Given the description of an element on the screen output the (x, y) to click on. 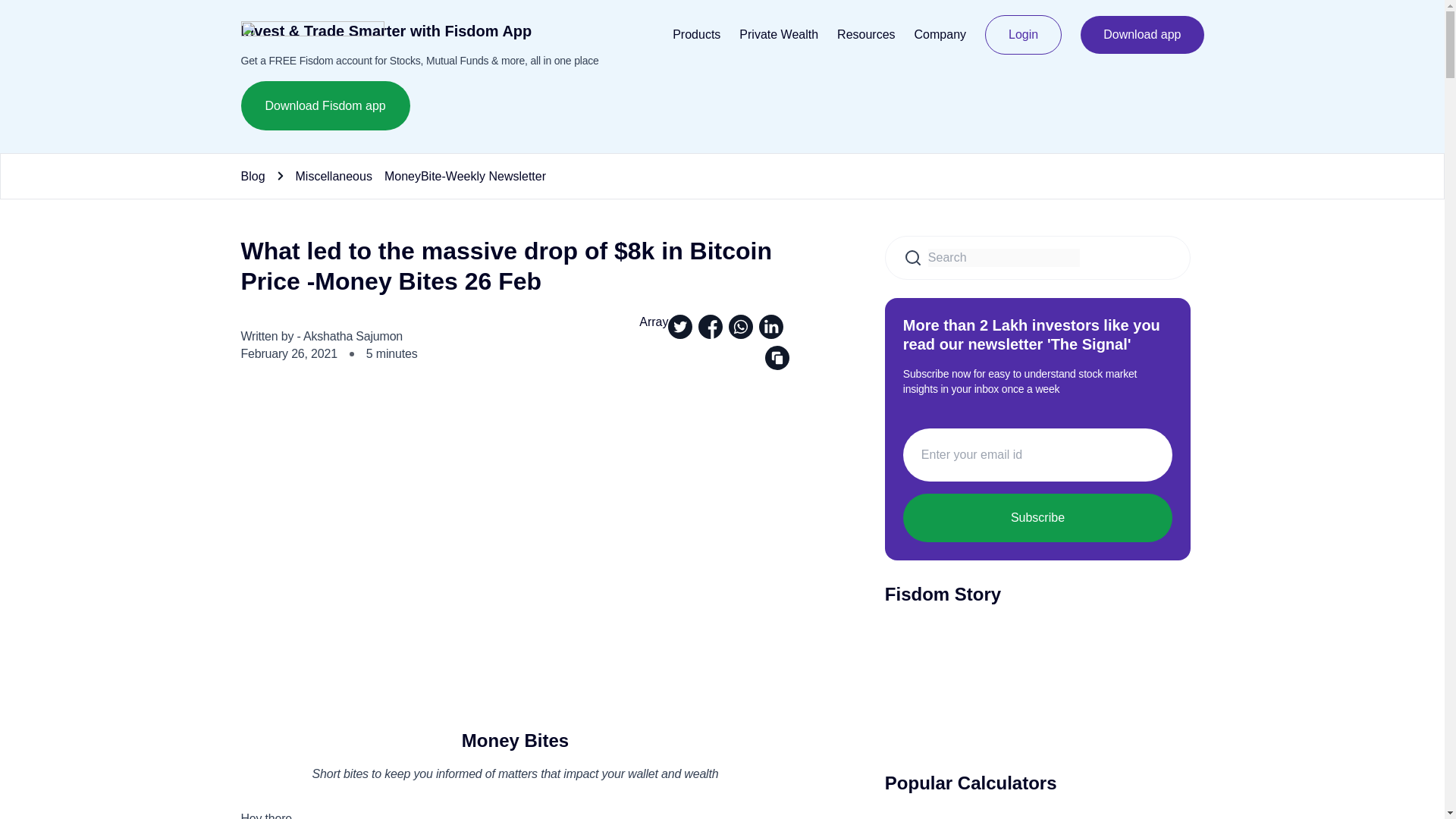
Resources (866, 33)
MoneyBite-Weekly Newsletter (465, 175)
Blog (252, 175)
Company (940, 33)
Products (696, 33)
Login (1023, 34)
Miscellaneous (333, 175)
Download app (1142, 34)
Blog (252, 175)
Download Fisdom app (325, 105)
Private Wealth (778, 33)
